Given the description of an element on the screen output the (x, y) to click on. 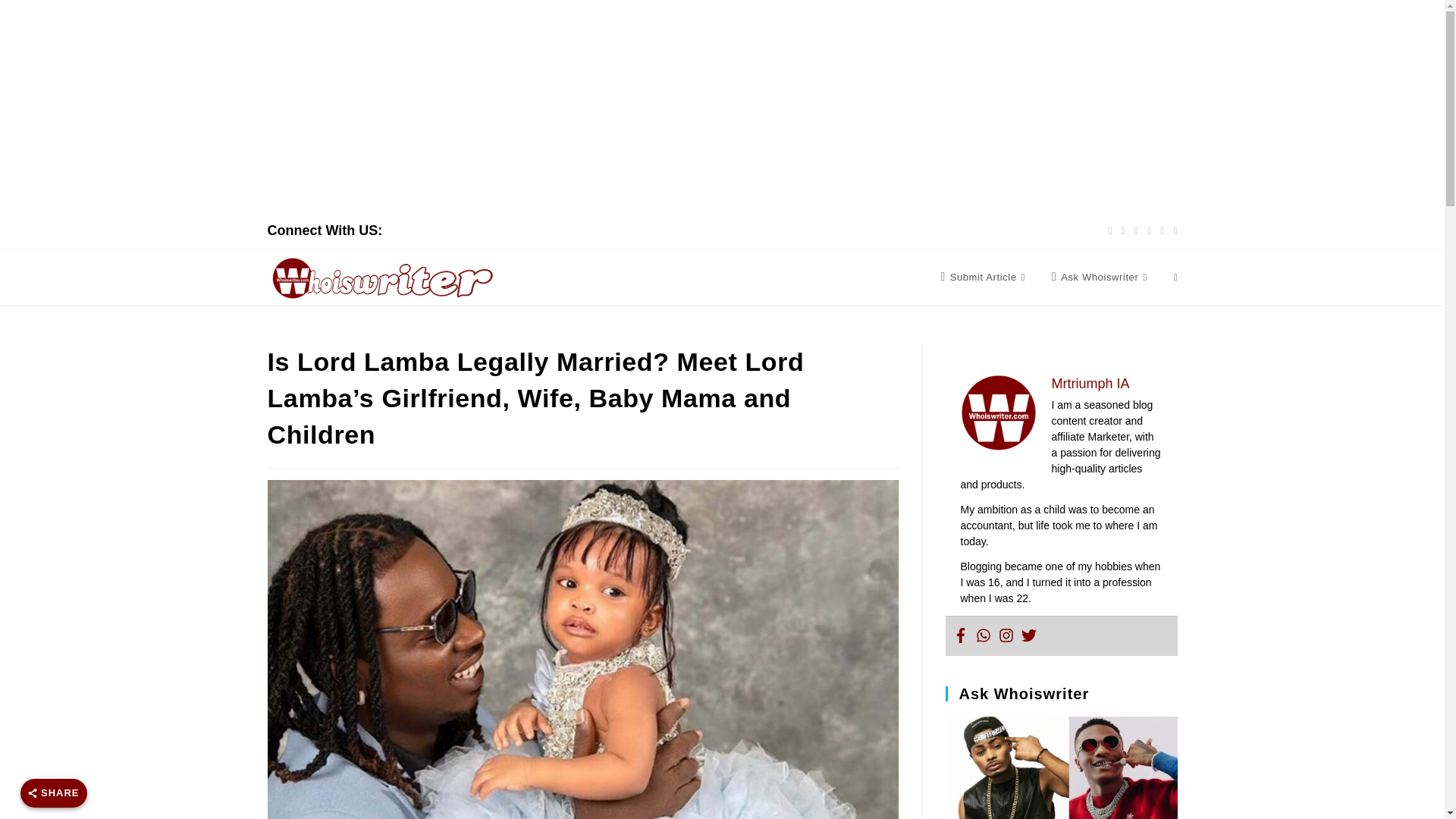
Facebook (960, 636)
Whatsapp (982, 636)
Twitter (1027, 636)
Submit Article (984, 277)
Instagram (1005, 636)
Ask Whoiswriter (1101, 277)
